Given the description of an element on the screen output the (x, y) to click on. 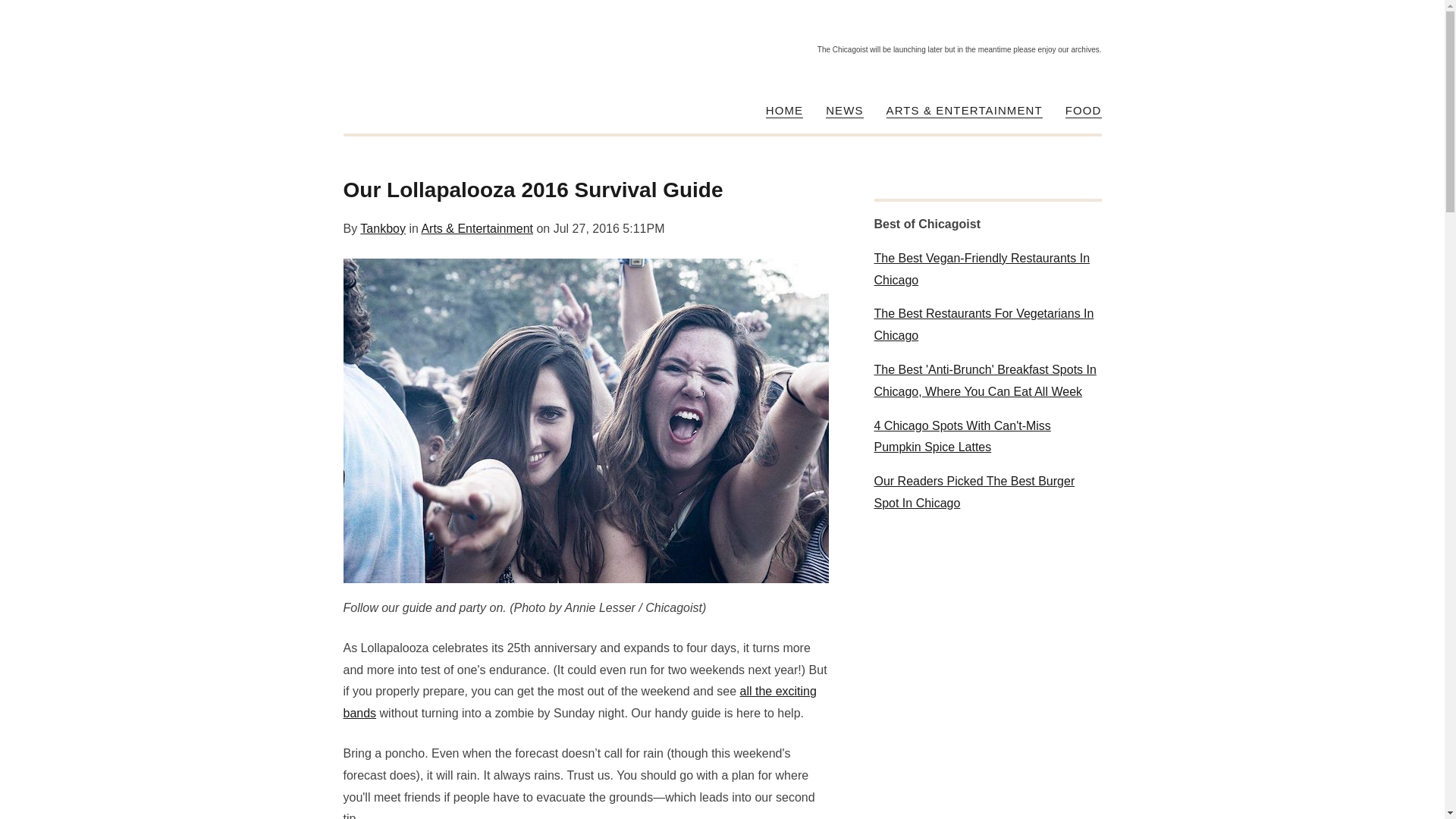
4 Chicago Spots With Can't-Miss Pumpkin Spice Lattes (986, 437)
The Best Restaurants For Vegetarians In Chicago (986, 325)
Tankboy (382, 228)
FOOD (1083, 110)
NEWS (844, 110)
HOME (784, 110)
all the exciting bands (578, 701)
The Best Vegan-Friendly Restaurants In Chicago (986, 269)
